Given the description of an element on the screen output the (x, y) to click on. 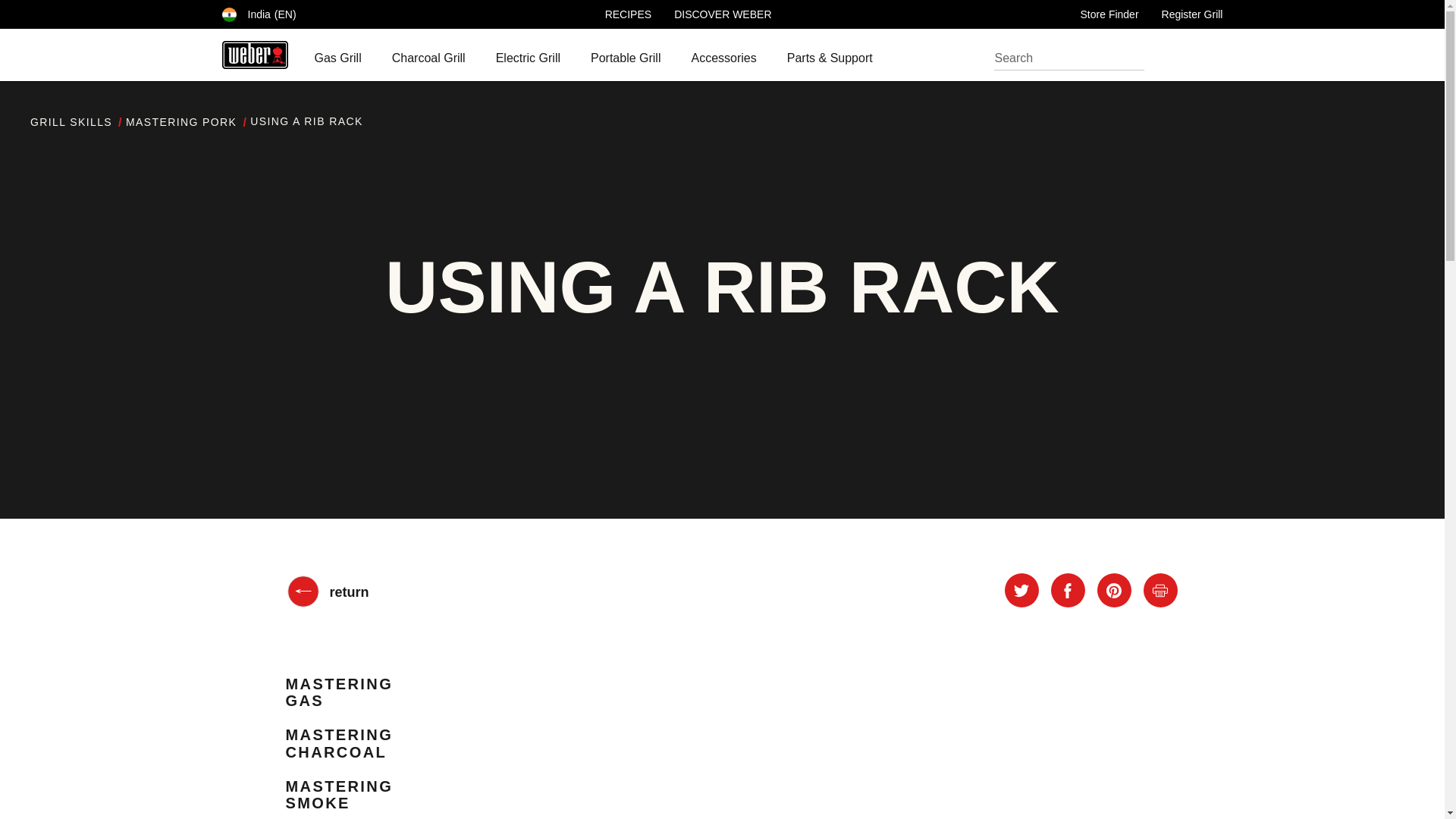
Electric Grill (528, 60)
India (258, 13)
India (228, 14)
Commerce Cloud Storefront Reference Architecture Home (253, 53)
RECIPES (627, 14)
Store Finder (1109, 14)
Charcoal Grill (428, 60)
Charcoal Grill (428, 57)
Gas Grill (337, 60)
Gas Grill (337, 57)
Charcoal Grill (428, 60)
Register Grill (1192, 14)
DISCOVER WEBER (722, 14)
Gas Grill (337, 60)
Store Finder (1109, 14)
